Given the description of an element on the screen output the (x, y) to click on. 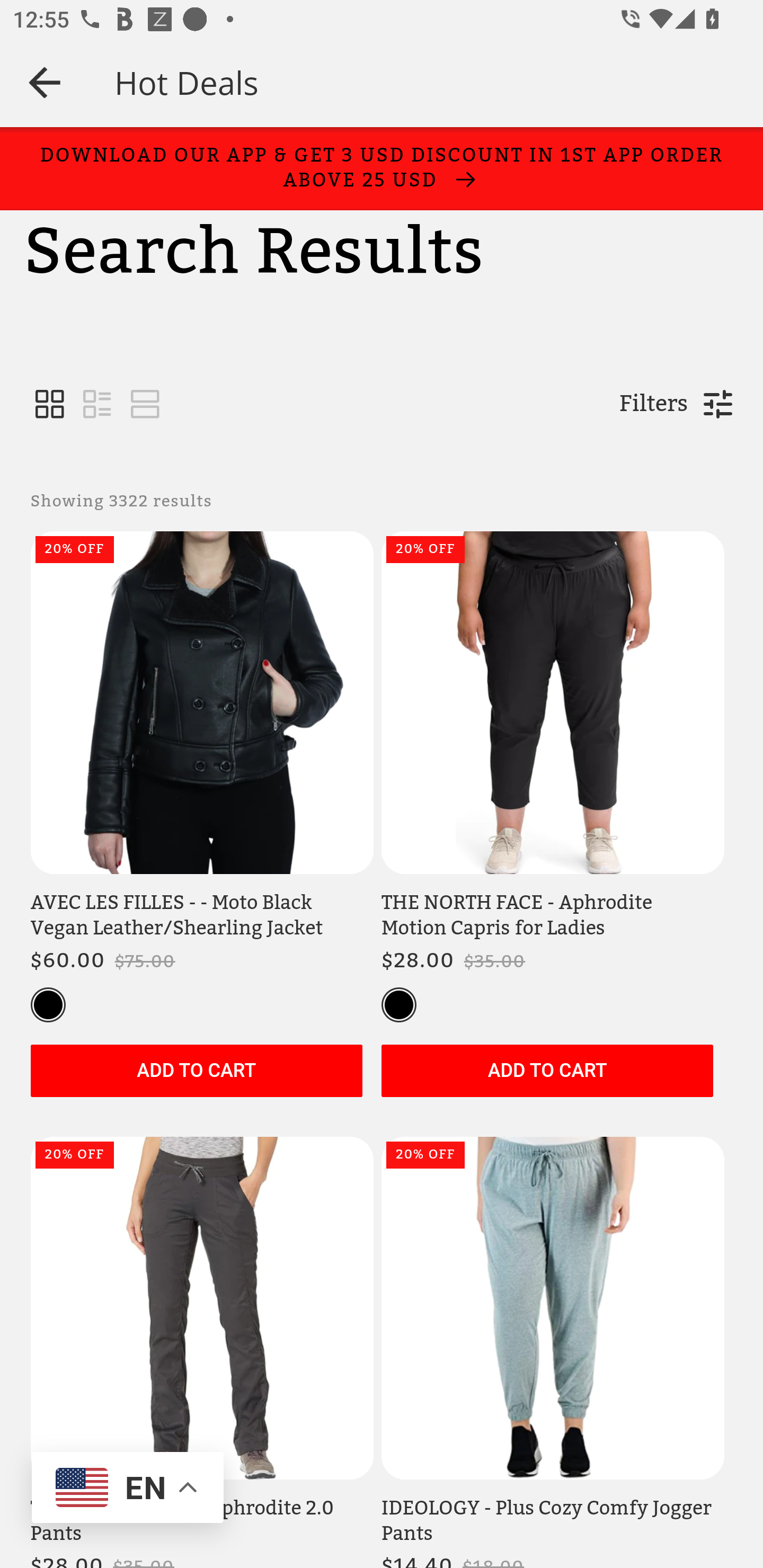
Navigate up (44, 82)
Filters (653, 404)
search-results-page?collection=sale# (50, 404)
search-results-page?collection=sale# (97, 404)
search-results-page?collection=sale# (145, 404)
Black (48, 1004)
Black (398, 1004)
ADD TO CART (196, 1070)
ADD TO CART (547, 1070)
